Given the description of an element on the screen output the (x, y) to click on. 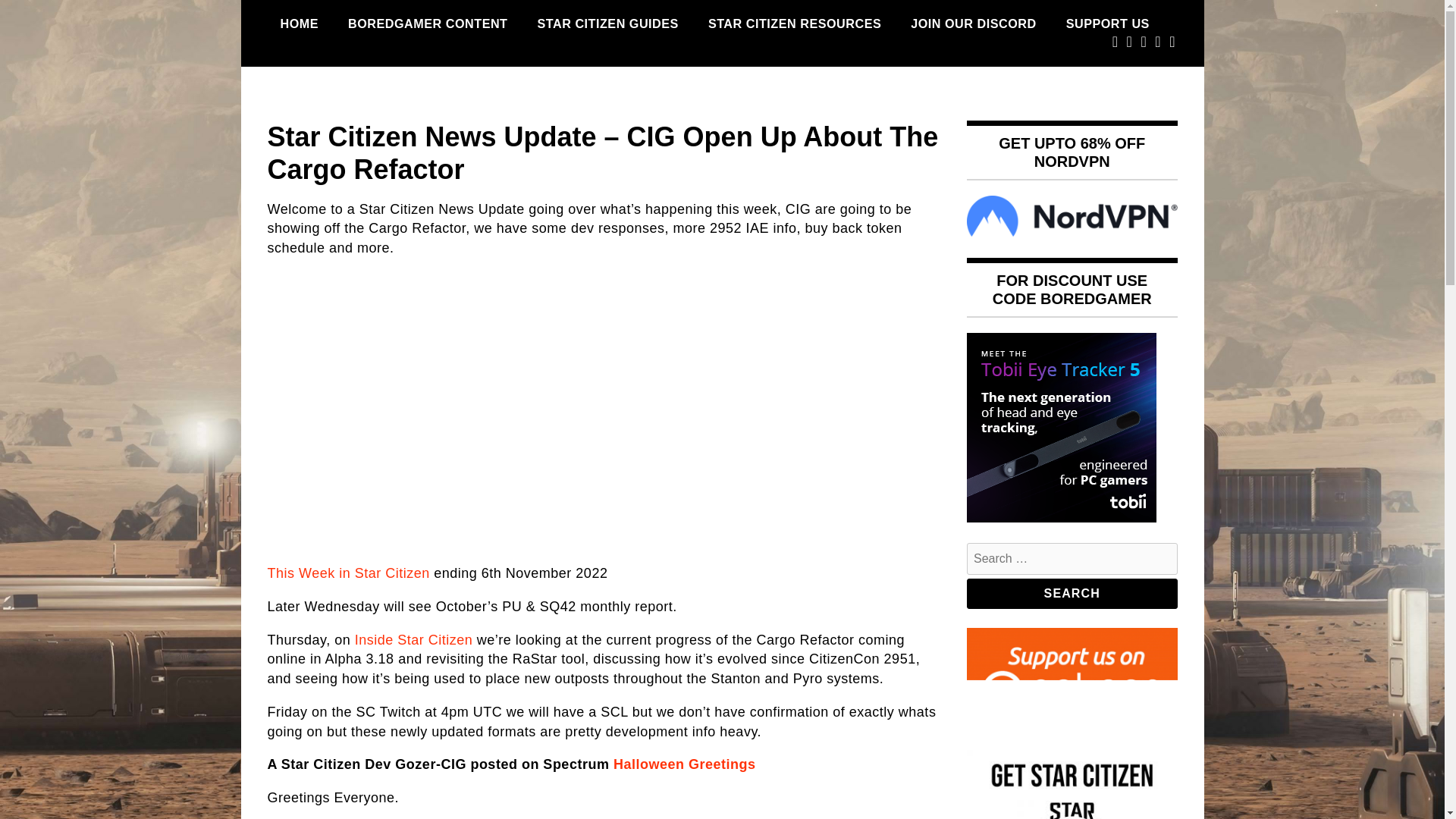
JOIN OUR DISCORD (972, 23)
Search (1071, 593)
This Week in Star Citizen (347, 572)
STAR CITIZEN GUIDES (607, 23)
Halloween Greetings (683, 764)
STAR CITIZEN RESOURCES (794, 23)
Search (1071, 593)
Inside Star Citizen (414, 639)
HOME (298, 23)
